Given the description of an element on the screen output the (x, y) to click on. 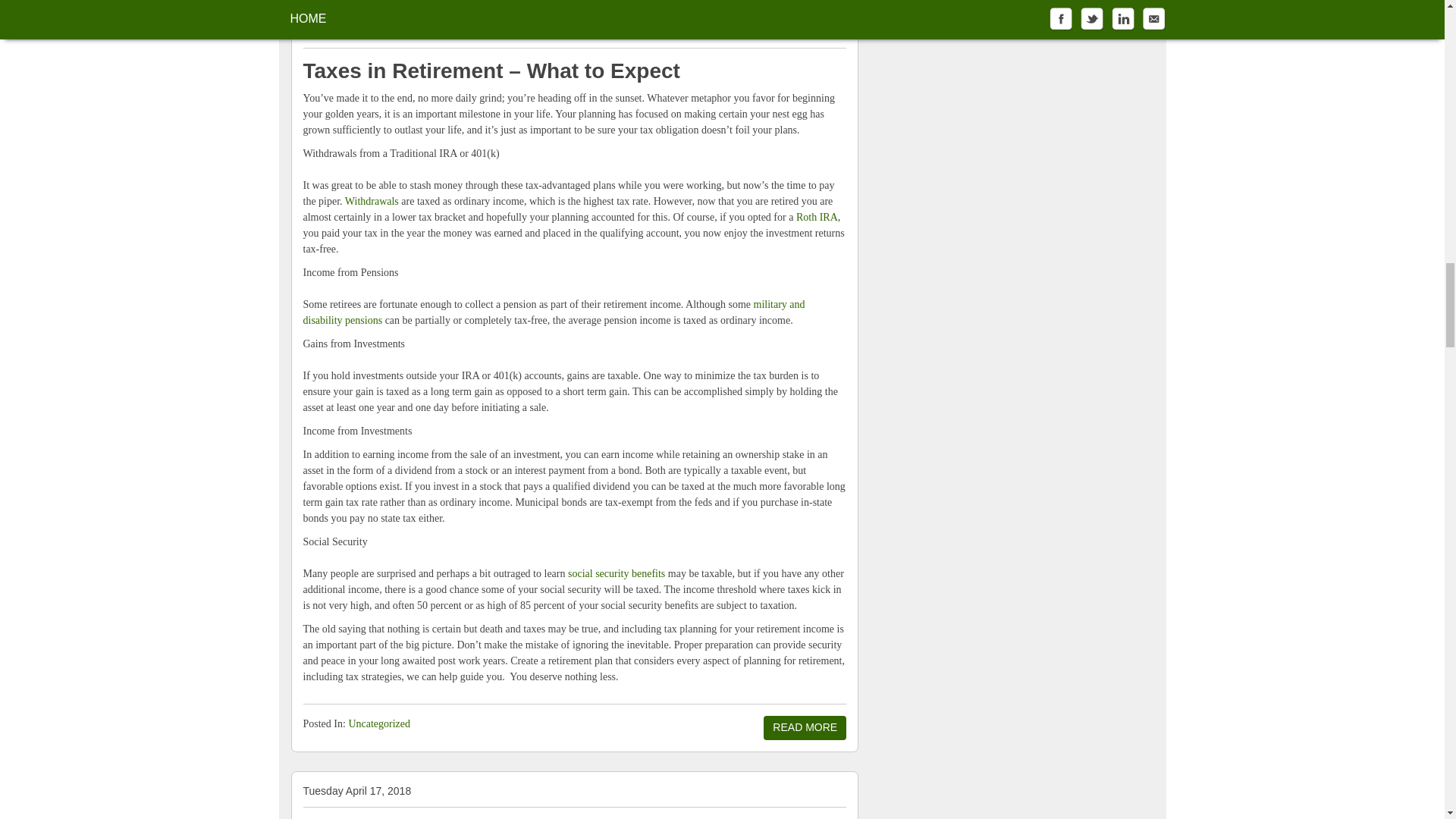
Roth IRA (817, 216)
Withdrawals (371, 201)
View all posts in Uncategorized (378, 723)
READ MORE (803, 727)
Uncategorized (378, 723)
military and disability pensions (553, 311)
social security benefits (616, 573)
